Given the description of an element on the screen output the (x, y) to click on. 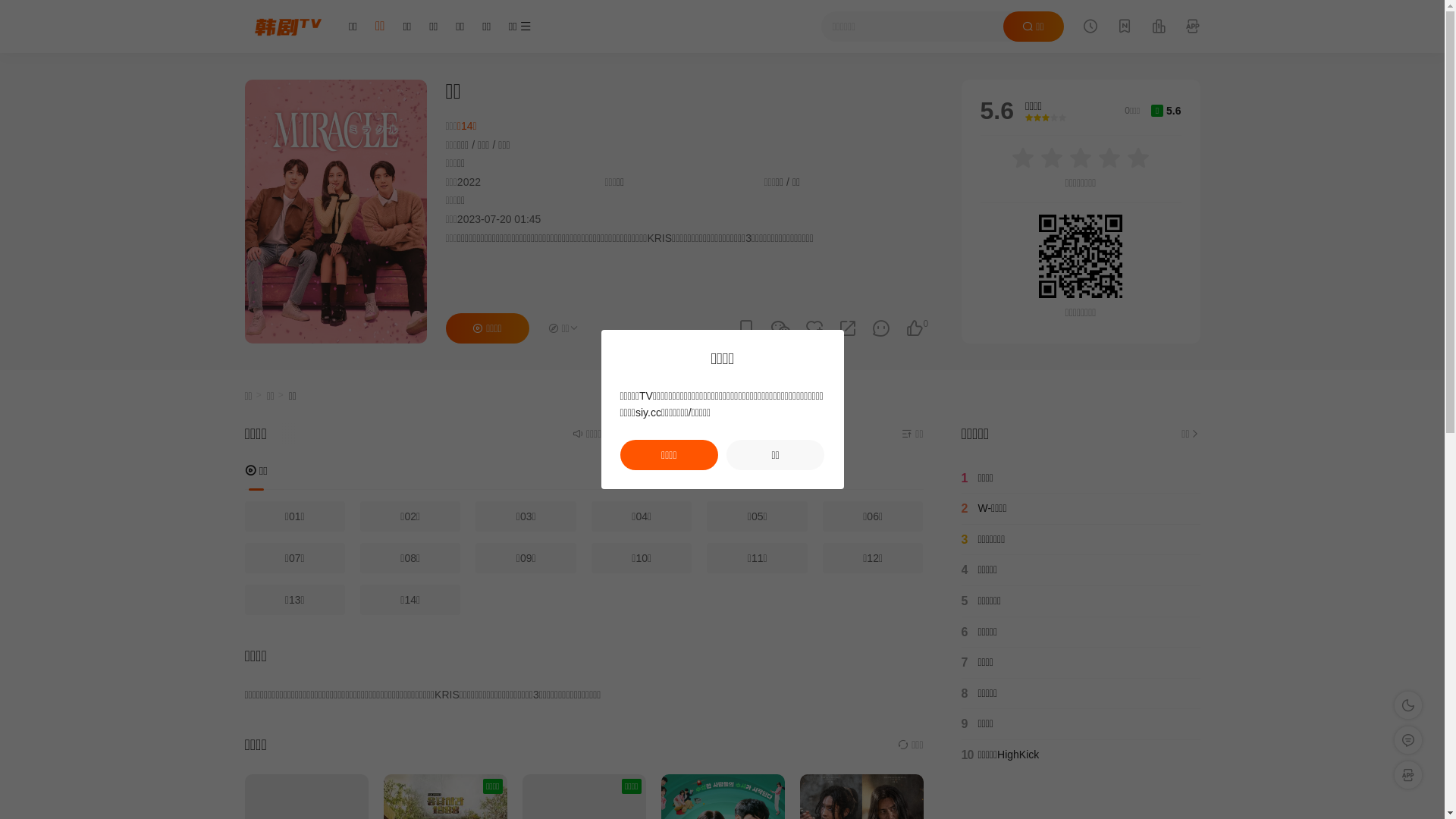
0 Element type: text (914, 328)
